Given the description of an element on the screen output the (x, y) to click on. 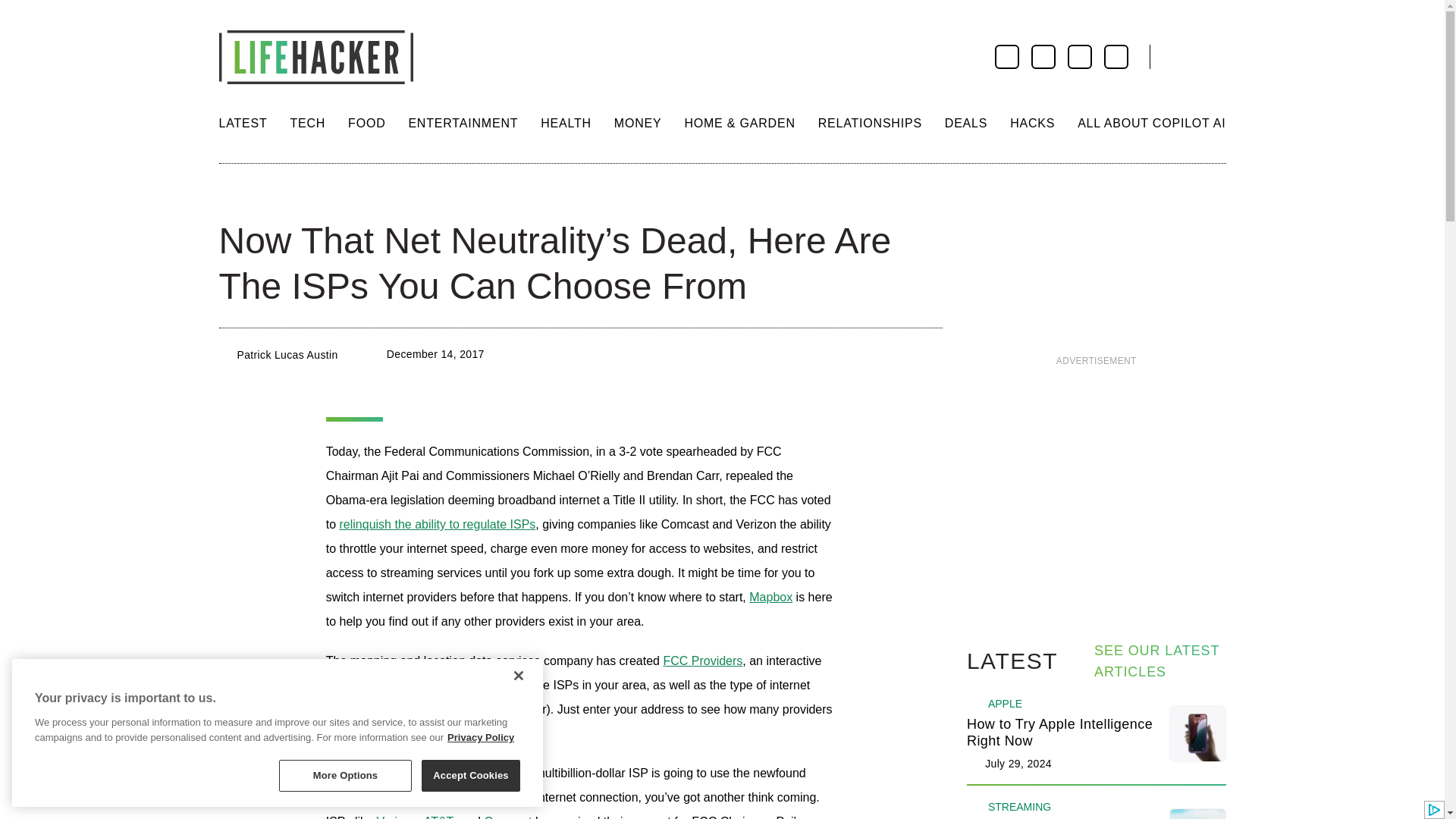
RELATIONSHIPS (869, 123)
MONEY (638, 123)
HEALTH (565, 123)
LATEST (242, 123)
FOOD (366, 123)
HACKS (1032, 123)
Social Share (232, 193)
TECH (306, 123)
ENTERTAINMENT (462, 123)
DEALS (965, 123)
open in a new window (437, 523)
ALL ABOUT COPILOT AI (1151, 123)
